Given the description of an element on the screen output the (x, y) to click on. 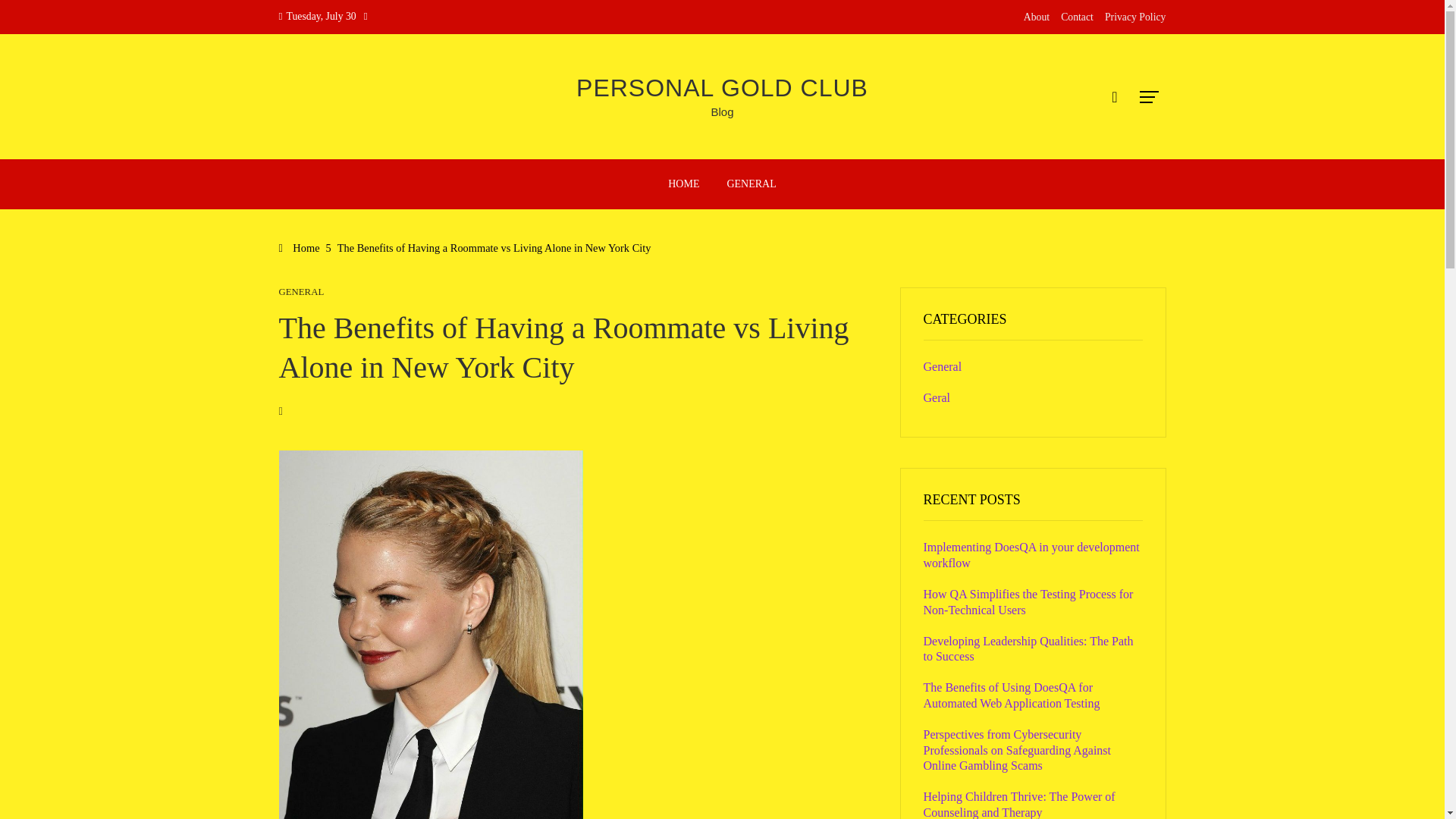
Geral (936, 397)
Privacy Policy (1135, 17)
Developing Leadership Qualities: The Path to Success (1028, 648)
PERSONAL GOLD CLUB (721, 87)
Helping Children Thrive: The Power of Counseling and Therapy (1019, 804)
Implementing DoesQA in your development workflow (1031, 554)
GENERAL (750, 183)
GENERAL (301, 292)
General (942, 366)
Home (299, 247)
Blog (721, 111)
Contact (1077, 17)
